Given the description of an element on the screen output the (x, y) to click on. 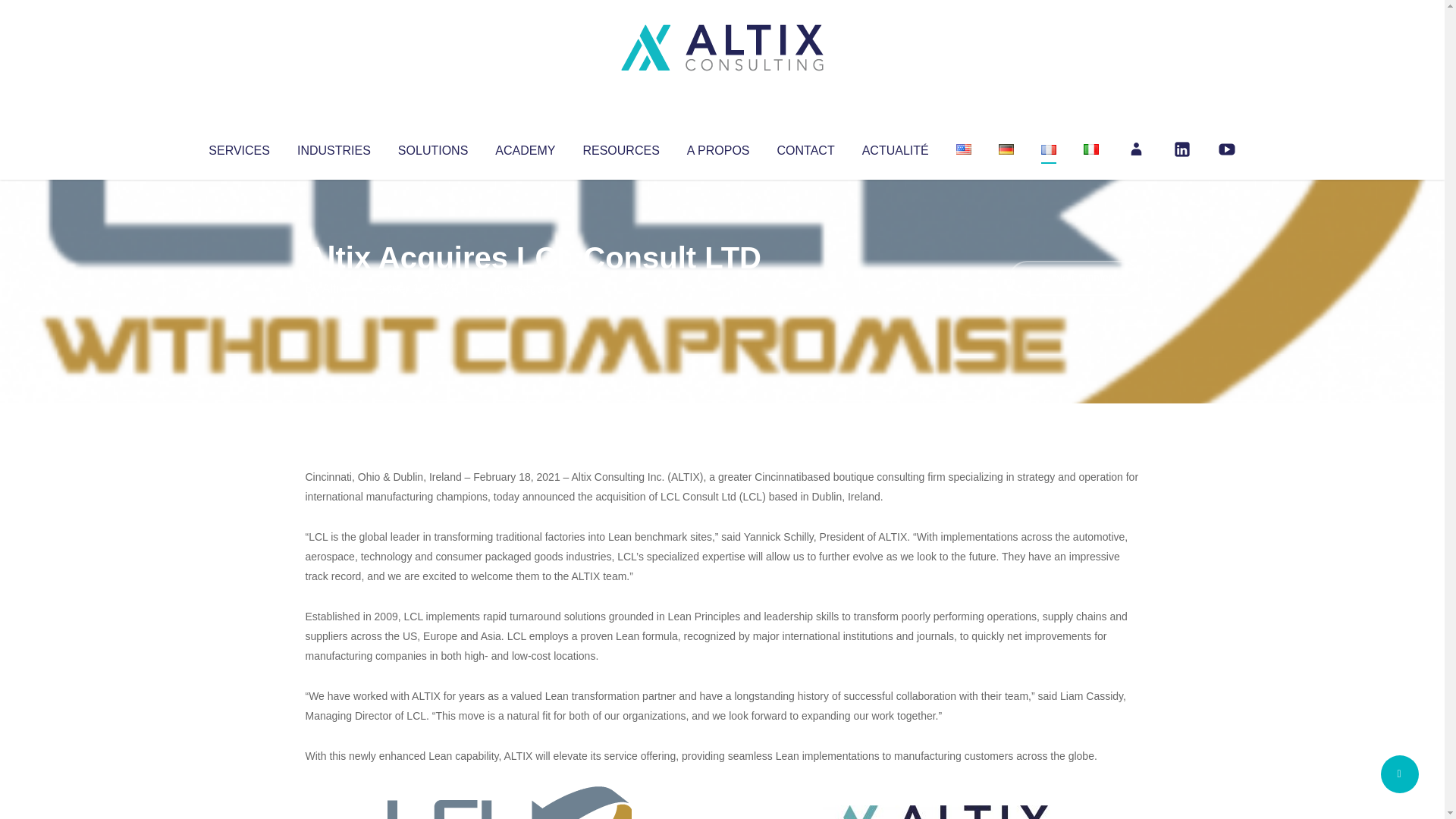
INDUSTRIES (334, 146)
SOLUTIONS (432, 146)
Altix (333, 287)
ACADEMY (524, 146)
SERVICES (238, 146)
Uncategorized (530, 287)
RESOURCES (620, 146)
No Comments (1073, 278)
A PROPOS (718, 146)
Articles par Altix (333, 287)
